Given the description of an element on the screen output the (x, y) to click on. 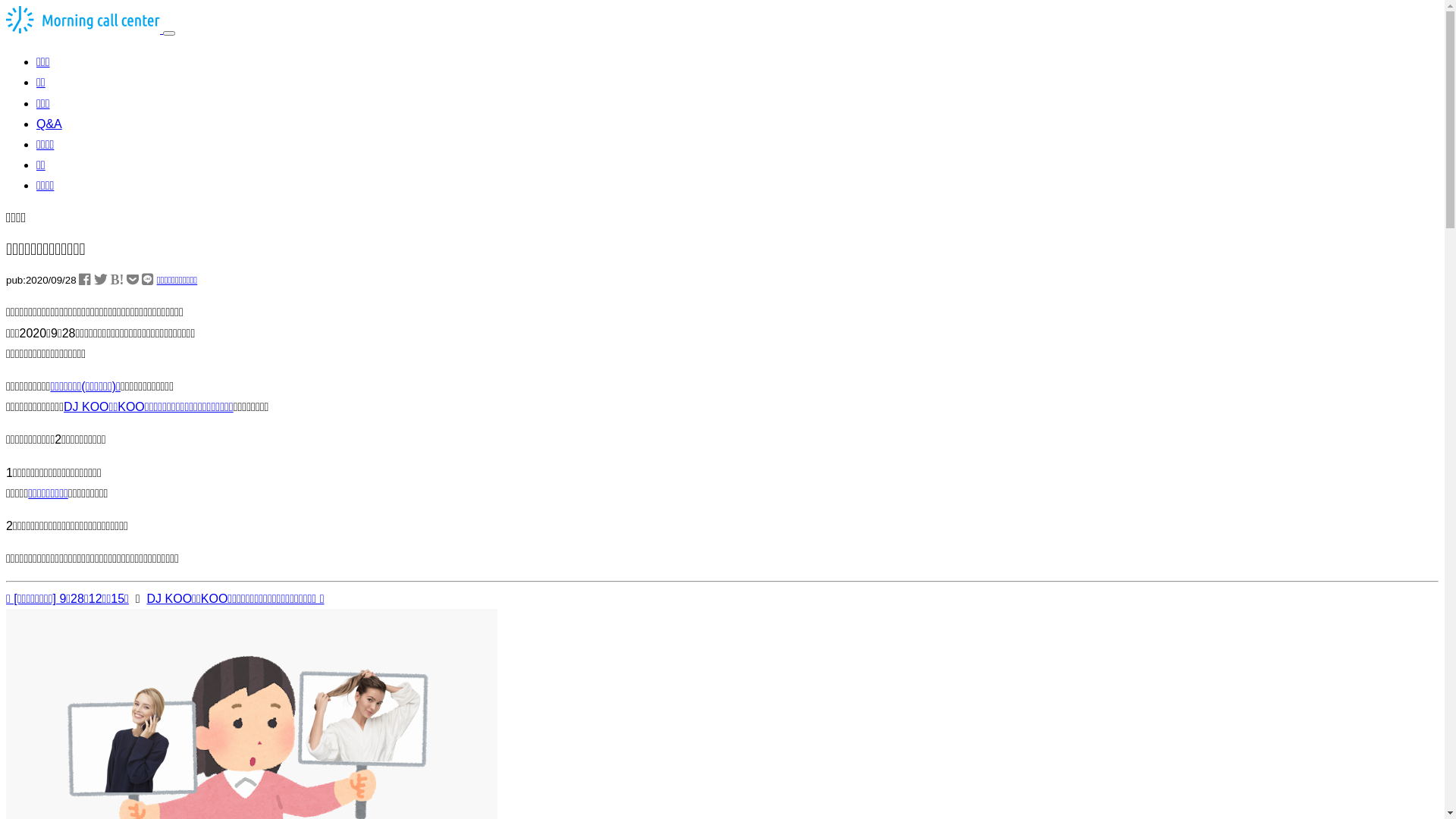
Q&A Element type: text (49, 123)
